Given the description of an element on the screen output the (x, y) to click on. 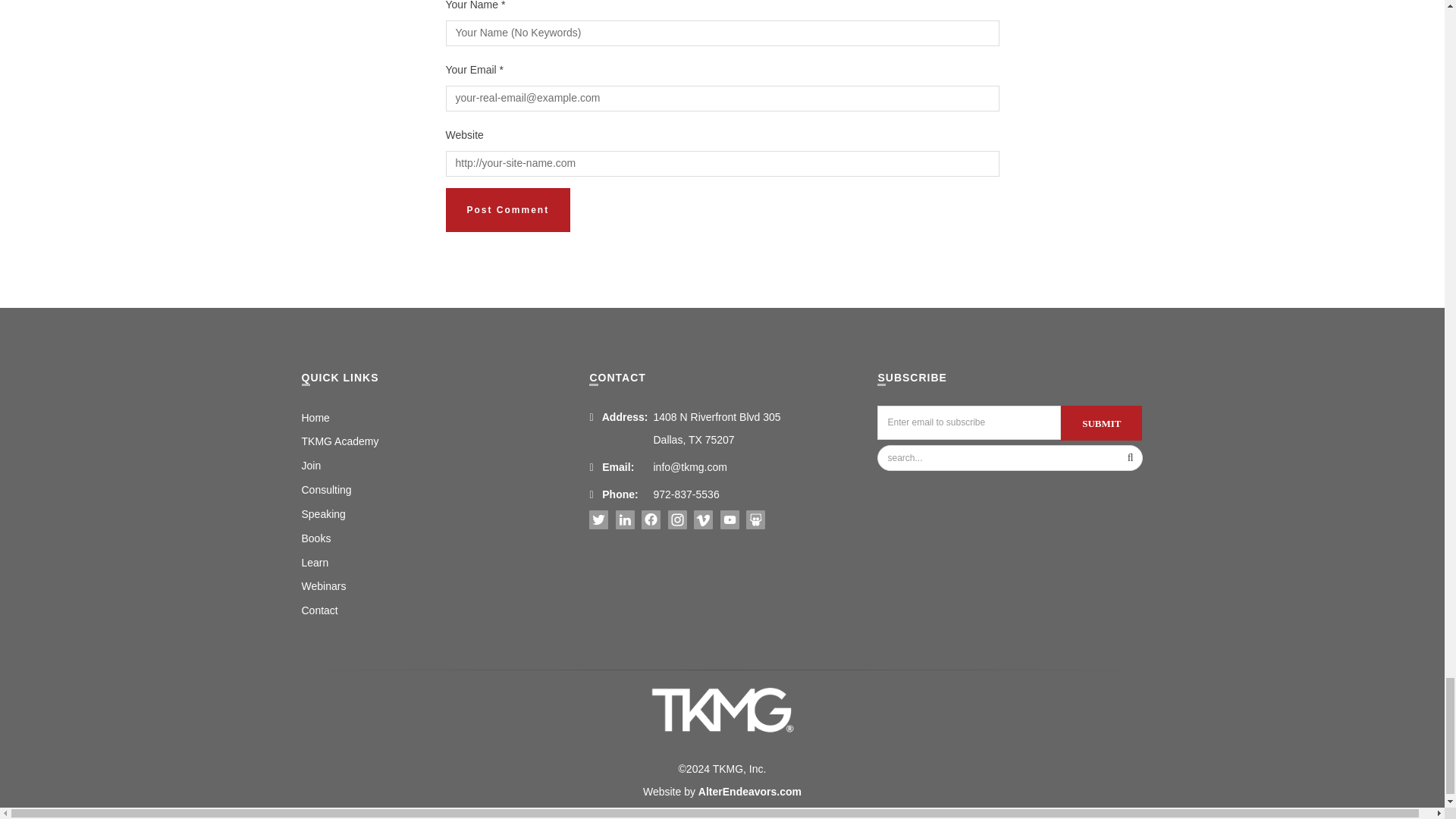
Post Comment (507, 209)
